Given the description of an element on the screen output the (x, y) to click on. 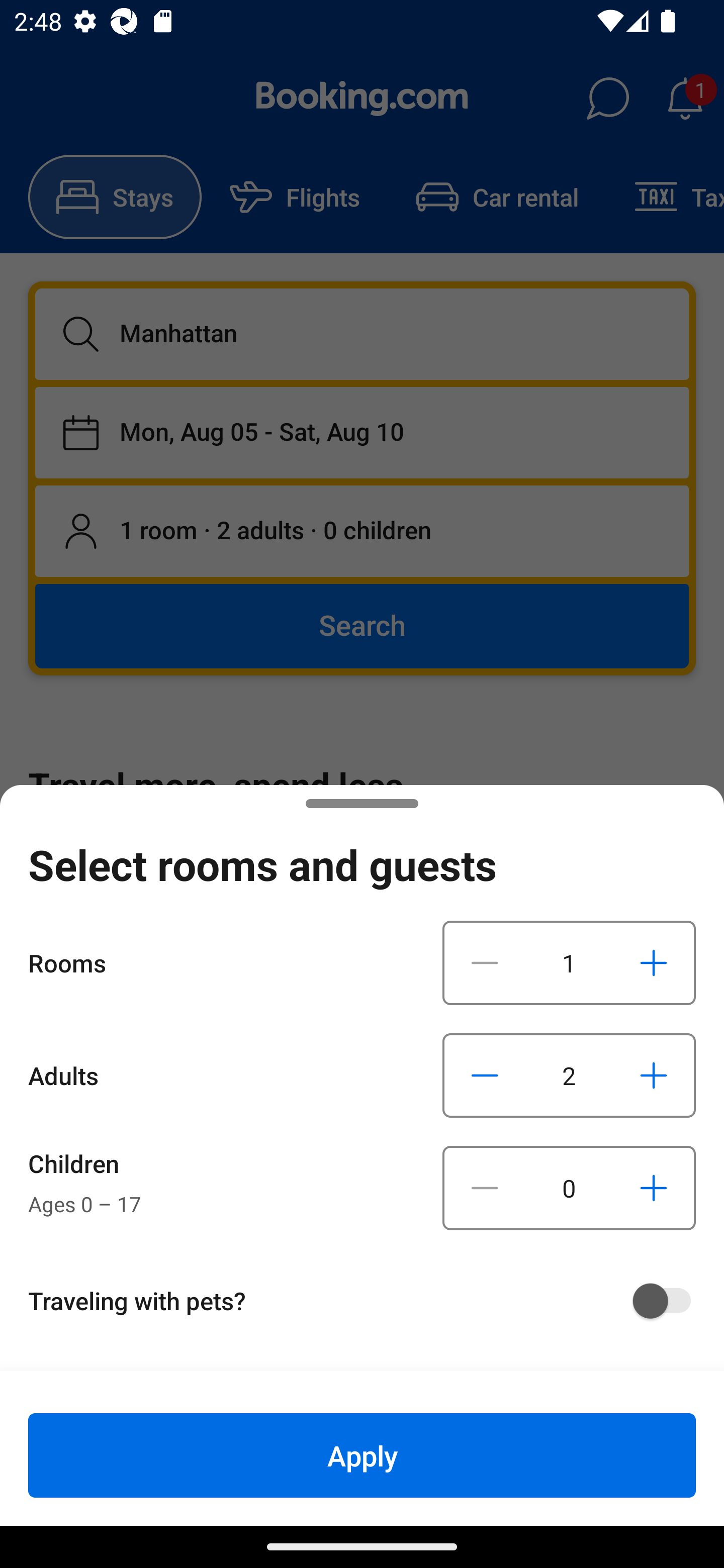
Decrease (484, 962)
Increase (653, 962)
Decrease (484, 1075)
Increase (653, 1075)
Decrease (484, 1188)
Increase (653, 1188)
Traveling with pets? (369, 1300)
Apply (361, 1454)
